Given the description of an element on the screen output the (x, y) to click on. 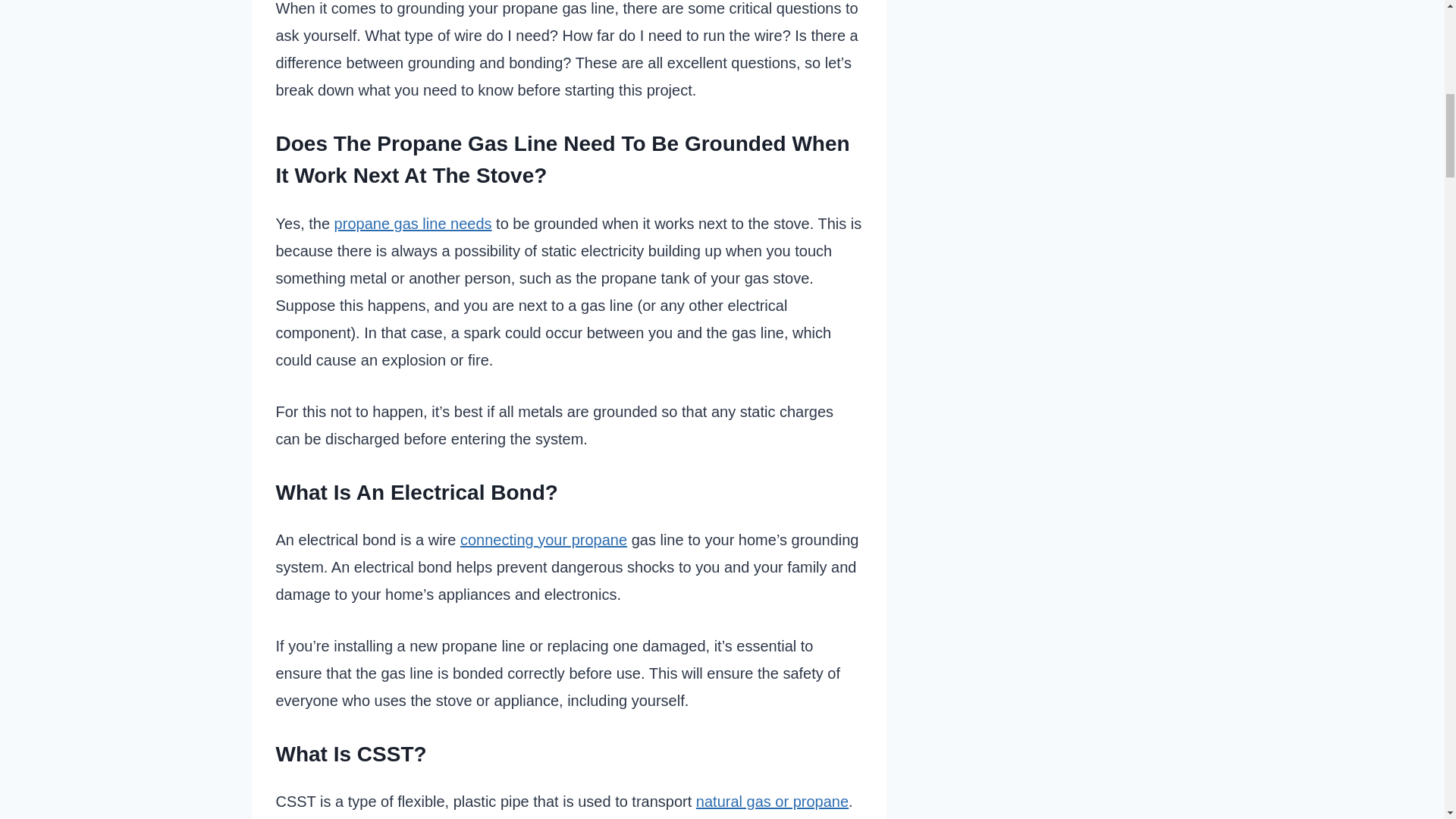
connecting your propane (543, 539)
propane gas line needs (413, 223)
natural gas or propane (771, 801)
